Given the description of an element on the screen output the (x, y) to click on. 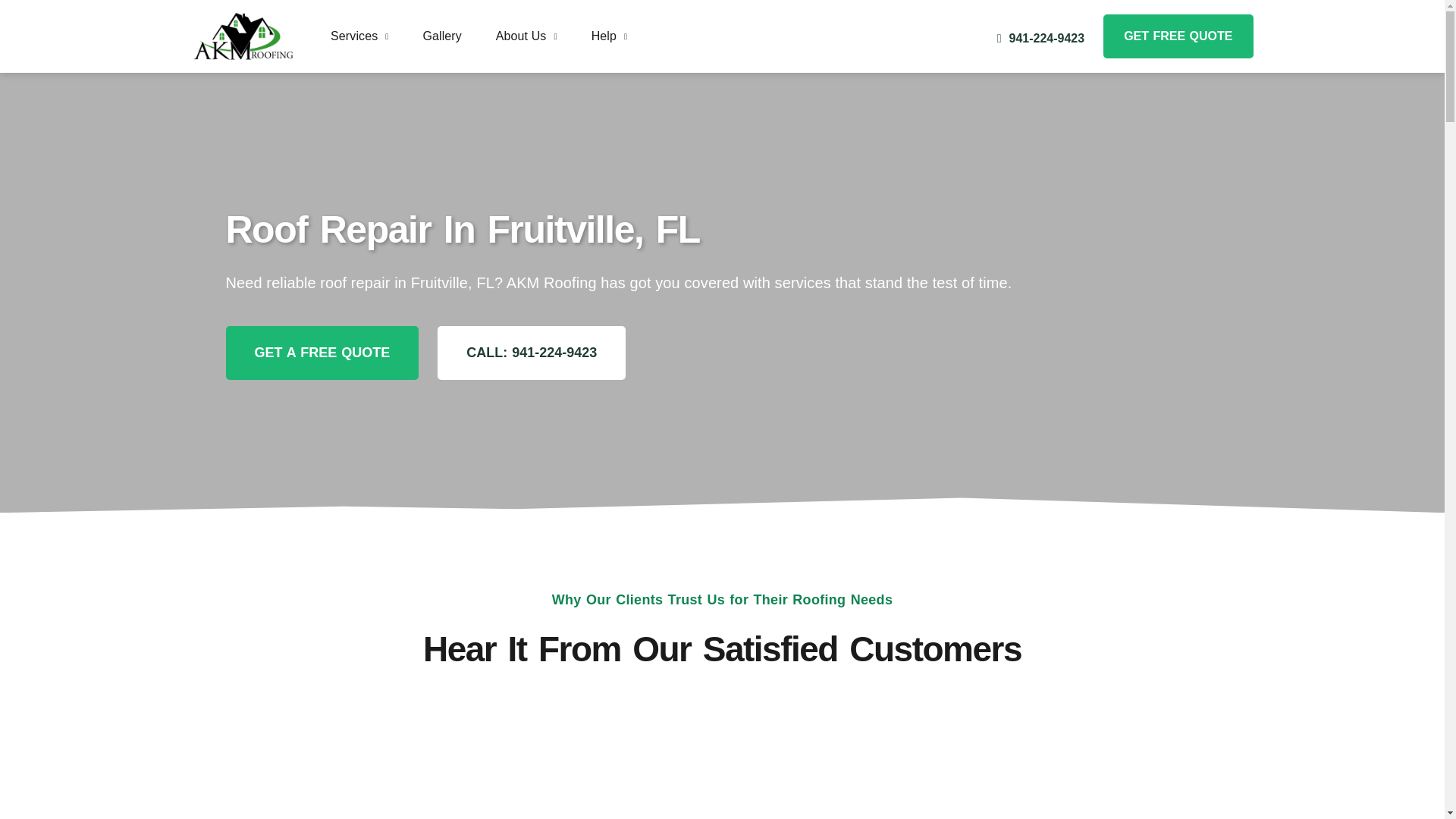
Gallery (441, 36)
Help (609, 36)
About Us (526, 36)
Services (359, 36)
